Given the description of an element on the screen output the (x, y) to click on. 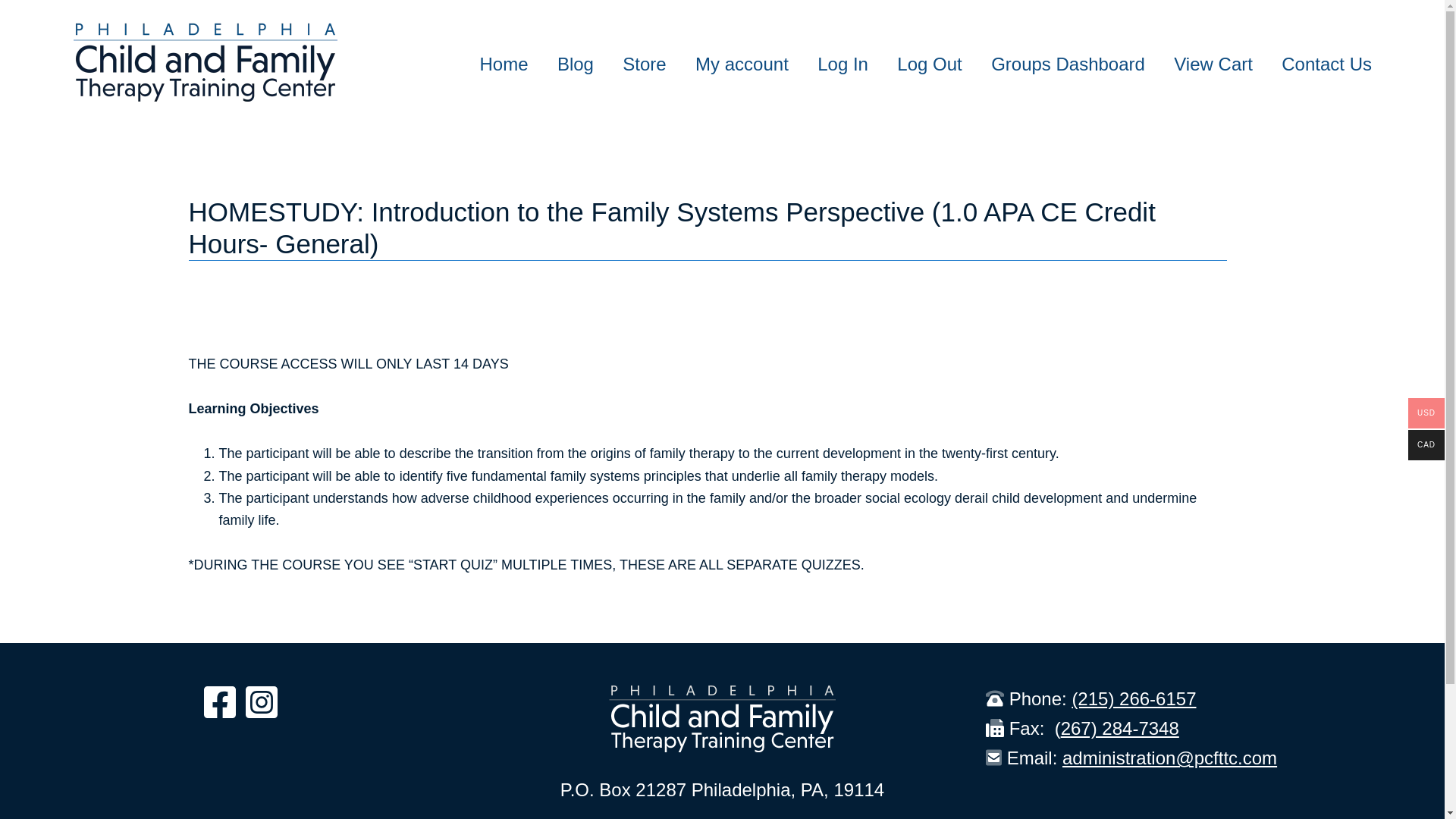
My account (727, 72)
Log Out (914, 72)
Groups Dashboard (1053, 72)
Home (488, 72)
Contact Us (1311, 72)
Store (630, 72)
Log In (828, 72)
View Cart (1198, 72)
Blog (559, 72)
